Given the description of an element on the screen output the (x, y) to click on. 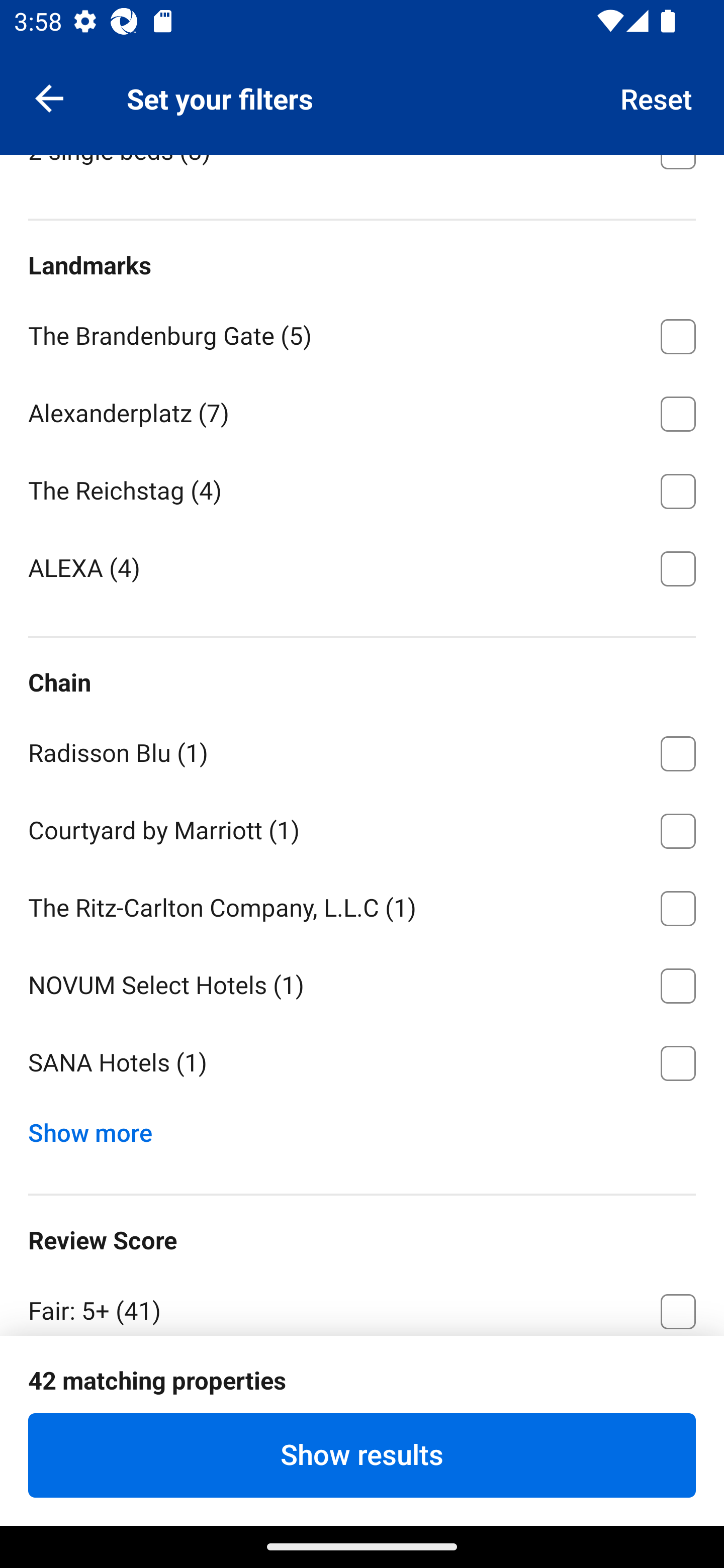
Navigate up (49, 97)
Reset (656, 97)
The Brandenburg Gate ⁦(5) (361, 332)
Alexanderplatz ⁦(7) (361, 410)
The Reichstag ⁦(4) (361, 488)
ALEXA ⁦(4) (361, 567)
Radisson Blu ⁦(1) (361, 749)
Courtyard by Marriott ⁦(1) (361, 827)
The Ritz-Carlton Company, L.L.C ⁦(1) (361, 905)
NOVUM Select Hotels ⁦(1) (361, 981)
SANA Hotels ⁦(1) (361, 1062)
Show more (97, 1128)
Fair: 5+ ⁦(41) (361, 1302)
Pleasant: 6+ ⁦(39) (361, 1384)
Show results (361, 1454)
